Given the description of an element on the screen output the (x, y) to click on. 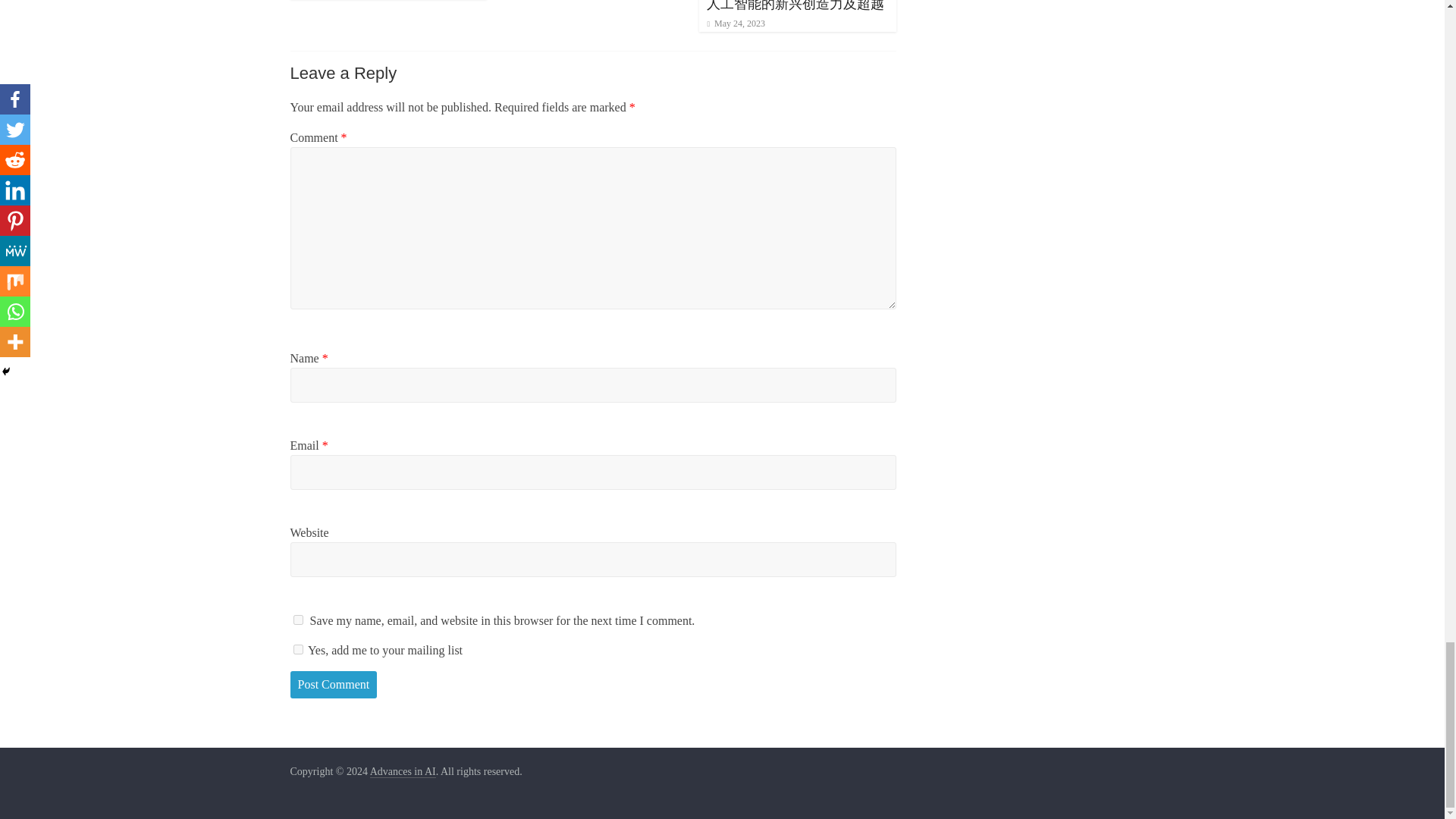
yes (297, 619)
Post Comment (333, 684)
1 (297, 649)
